Given the description of an element on the screen output the (x, y) to click on. 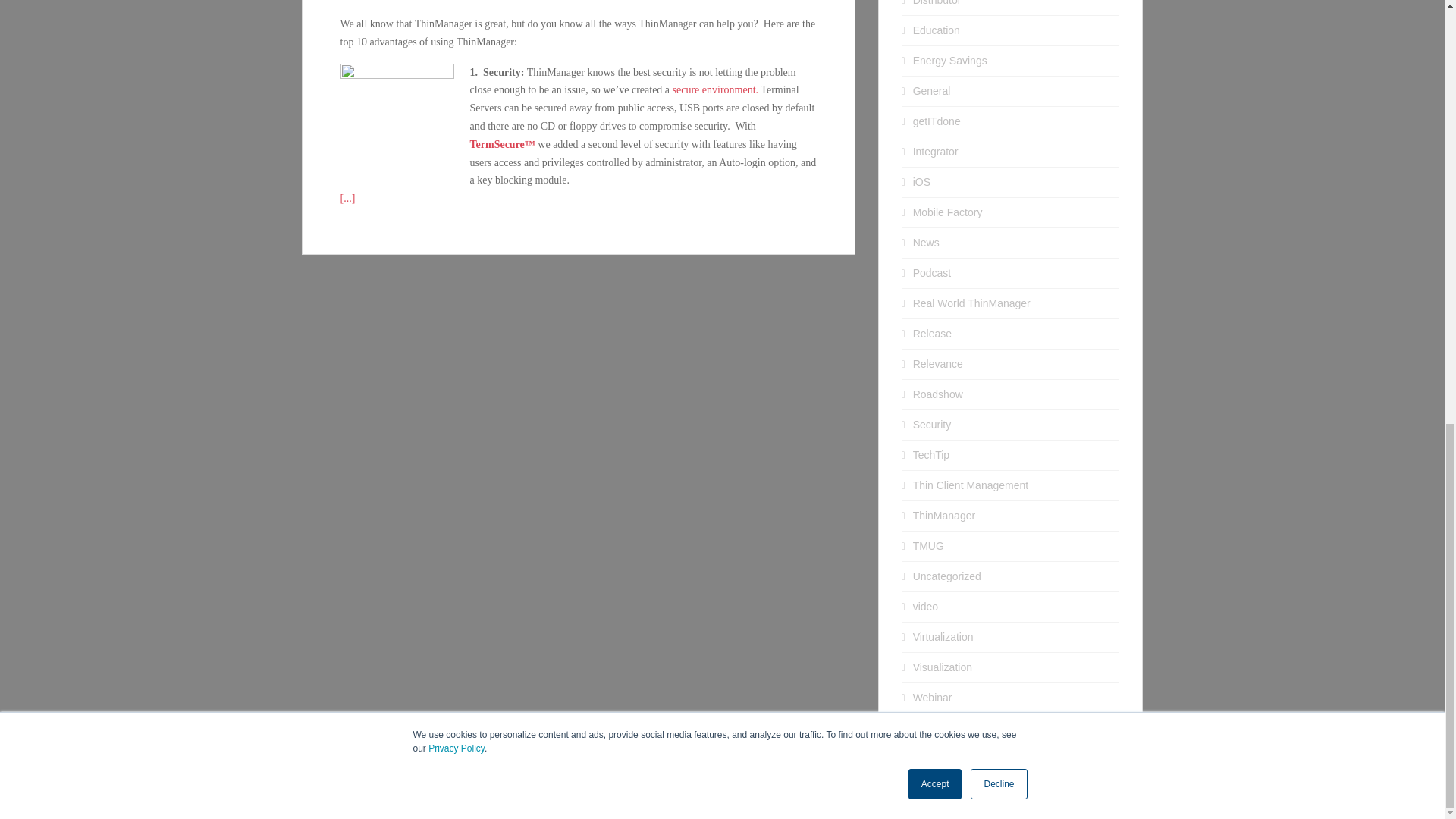
Education (935, 30)
General (931, 91)
secure environment. (715, 89)
Thin Client Technology Blog (834, 802)
Distributor (936, 2)
Energy Savings (949, 60)
